Given the description of an element on the screen output the (x, y) to click on. 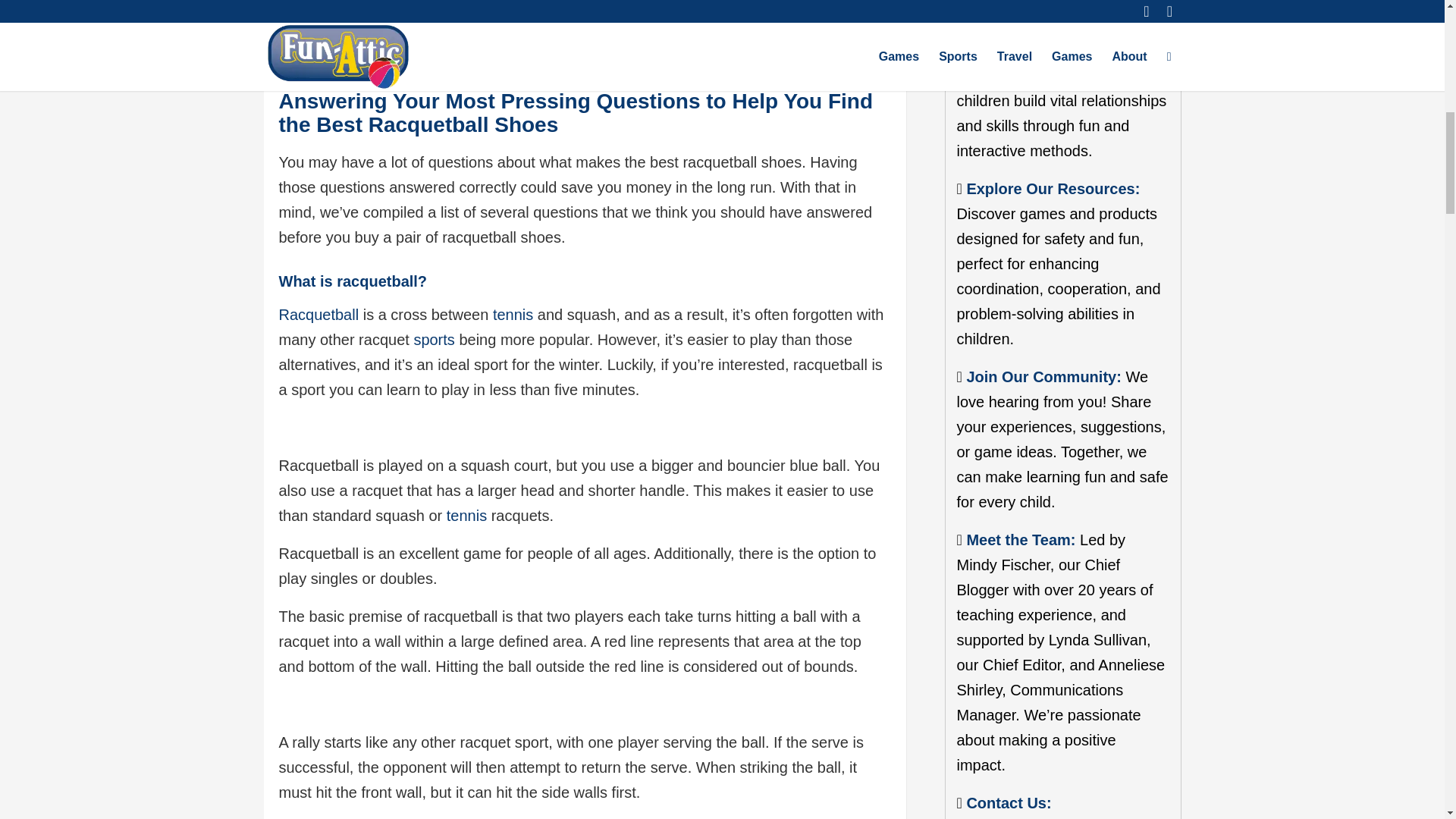
tennis (512, 314)
sports (433, 339)
tennis (466, 515)
Racquetball (319, 314)
